Given the description of an element on the screen output the (x, y) to click on. 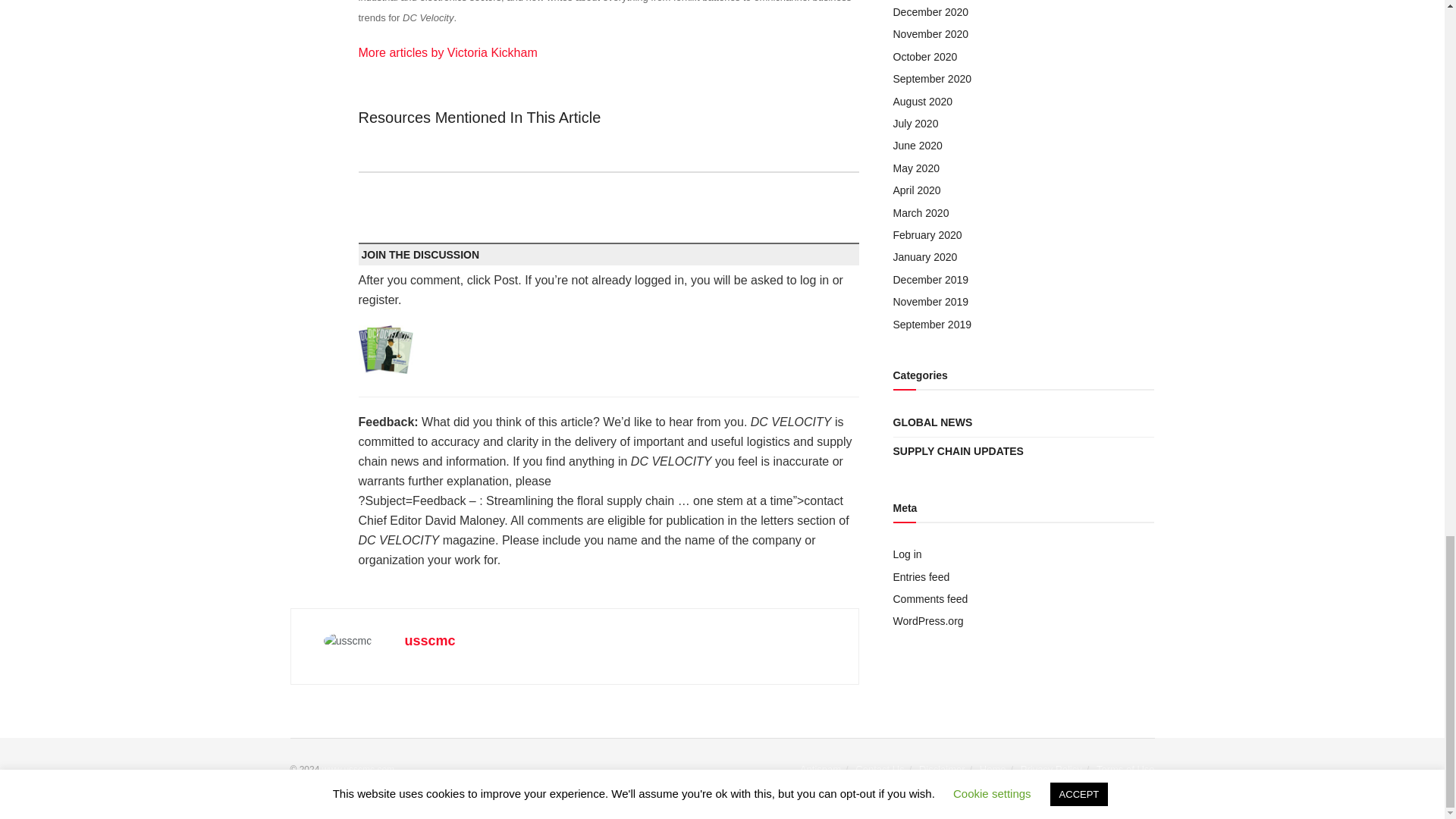
United States Supply Chain Management Council (357, 769)
More articles by Victoria Kickham (447, 51)
usscmc (429, 640)
